Given the description of an element on the screen output the (x, y) to click on. 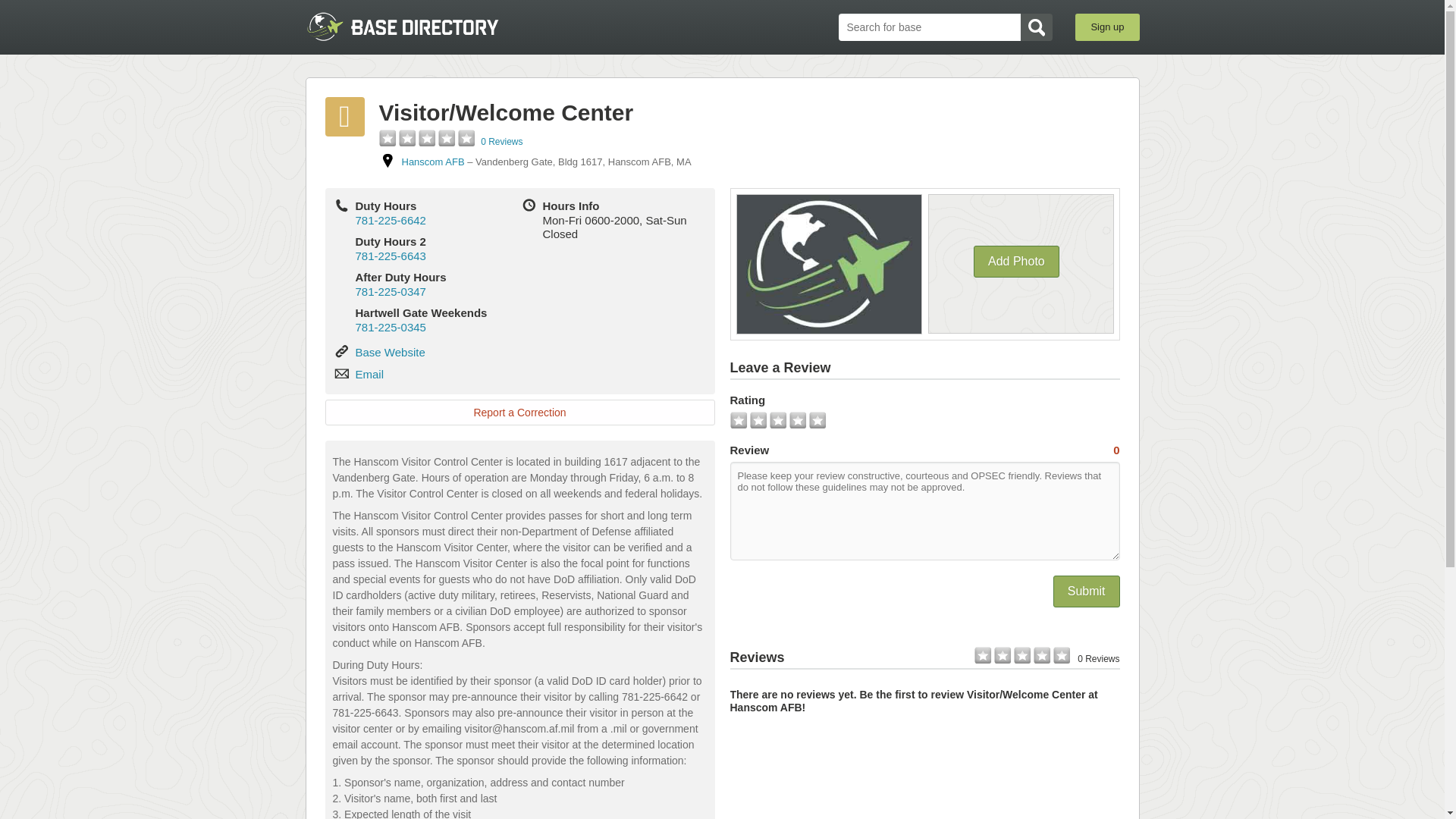
Report a Correction (519, 412)
Sign up (1106, 26)
781-225-0347 (390, 291)
Sign up (722, 392)
Log in (722, 317)
781-225-6643 (390, 255)
781-225-6642 (390, 219)
Add Photo (1016, 261)
0 Reviews (501, 141)
Hanscom AFB (432, 161)
